Given the description of an element on the screen output the (x, y) to click on. 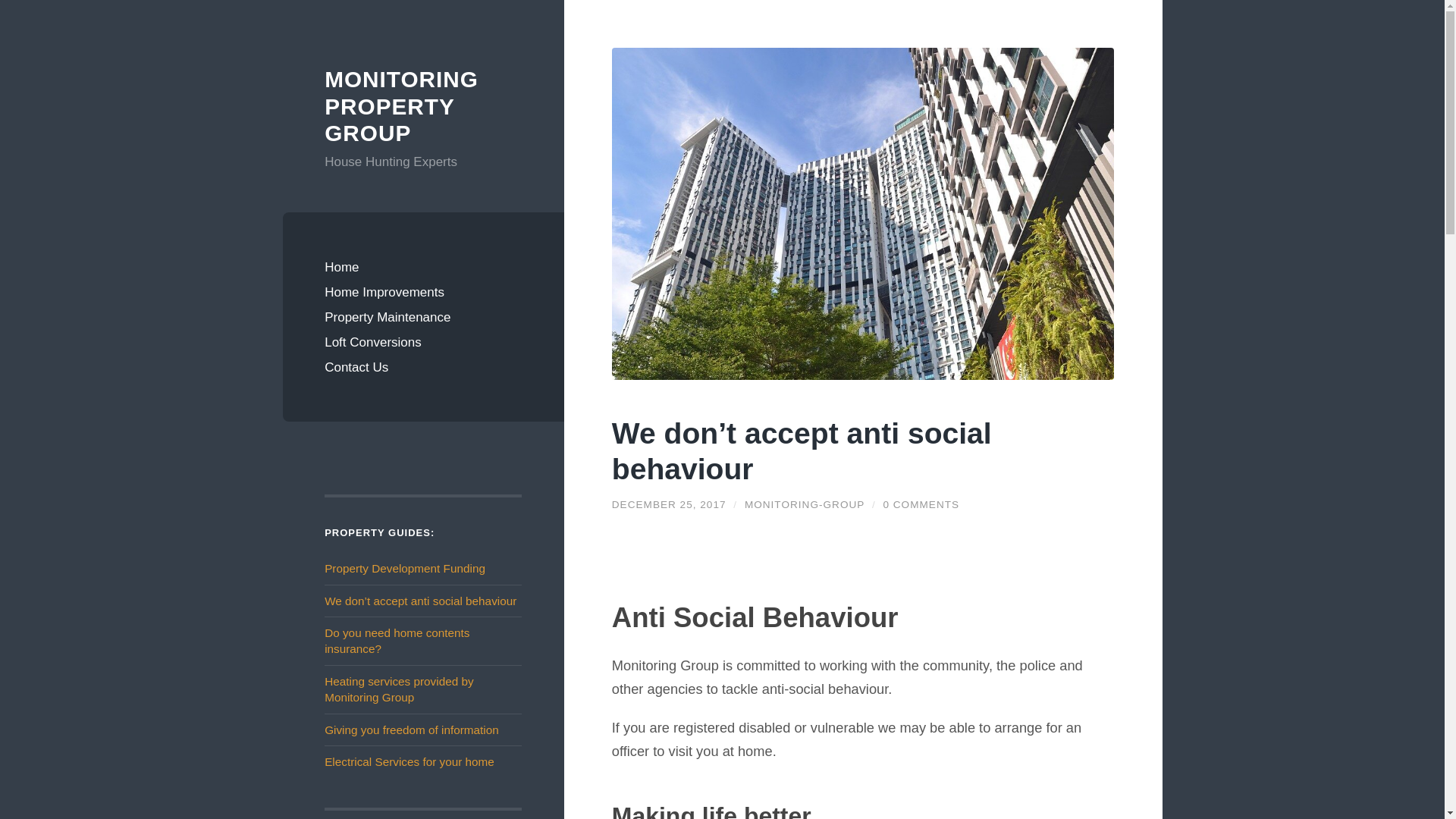
Electrical Services for your home (409, 761)
Home (422, 267)
0 COMMENTS (920, 504)
Loft Conversions (422, 342)
Property Development Funding (404, 567)
MONITORING-GROUP (804, 504)
Heating services provided by Monitoring Group (398, 688)
MONITORING PROPERTY GROUP (422, 106)
Do you need home contents insurance? (396, 640)
Posts by monitoring-group (804, 504)
